Given the description of an element on the screen output the (x, y) to click on. 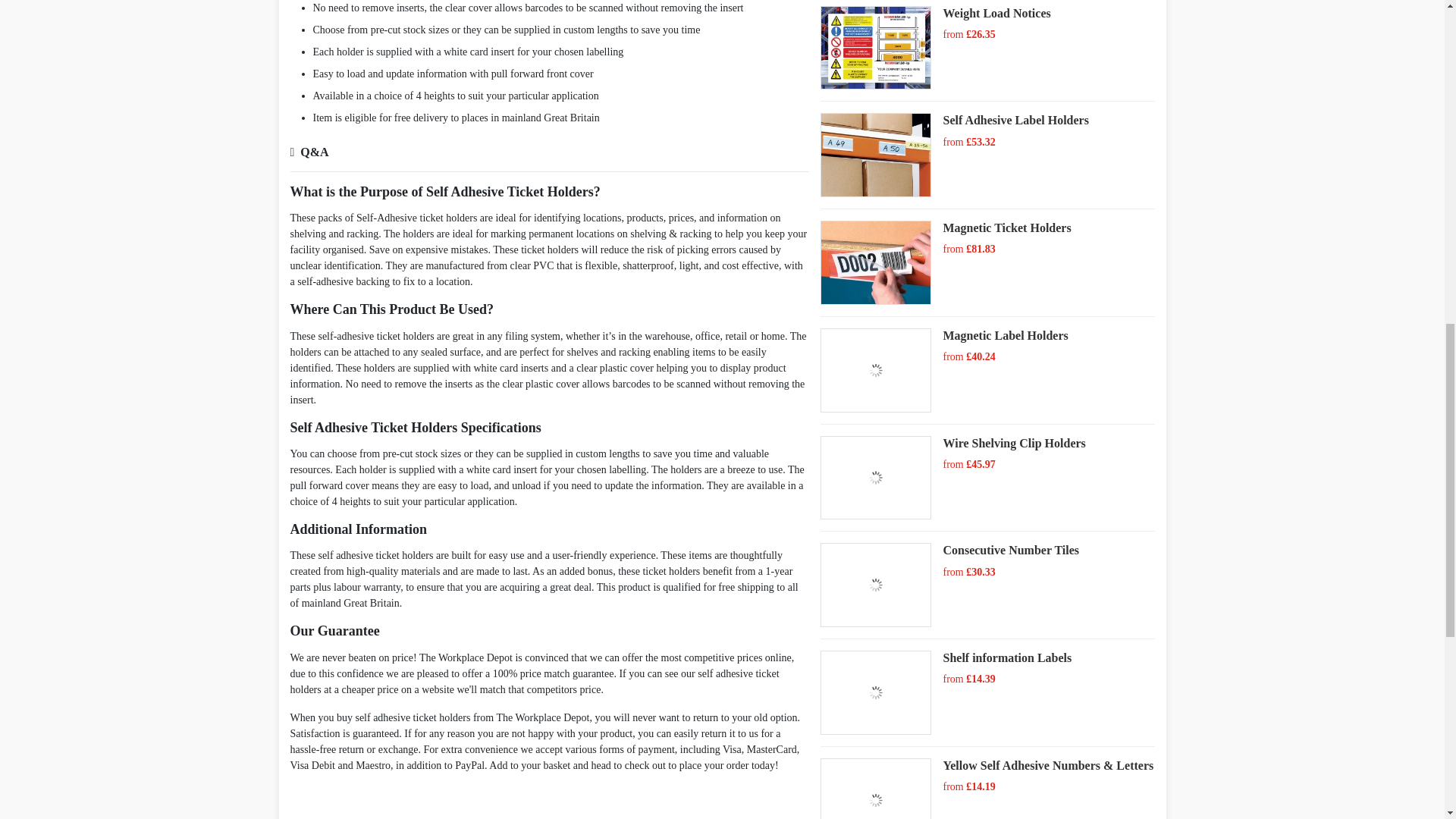
Weight Load Notices (995, 12)
Magnetic Ticket Holders (1006, 227)
Self Adhesive Label Holders (1014, 119)
